Given the description of an element on the screen output the (x, y) to click on. 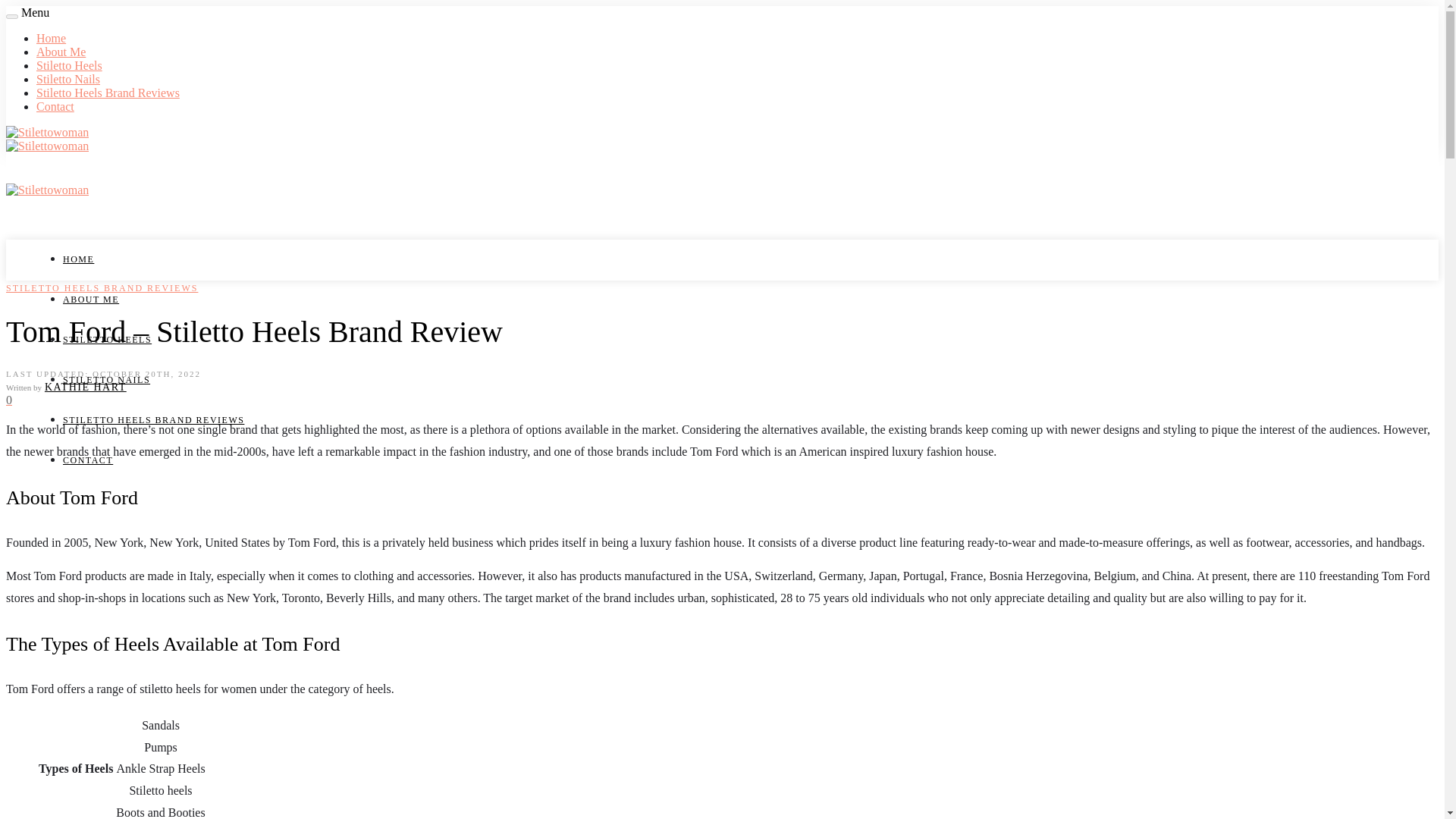
ABOUT ME (90, 299)
CONTACT (87, 460)
STILETTO HEELS BRAND REVIEWS (101, 287)
STILETTO HEELS BRAND REVIEWS (153, 419)
KATHIE HART (85, 387)
HOME (78, 258)
Posts by Kathie Hart (85, 387)
Stiletto Heels Brand Reviews (107, 92)
Contact (55, 106)
Home (50, 38)
